Given the description of an element on the screen output the (x, y) to click on. 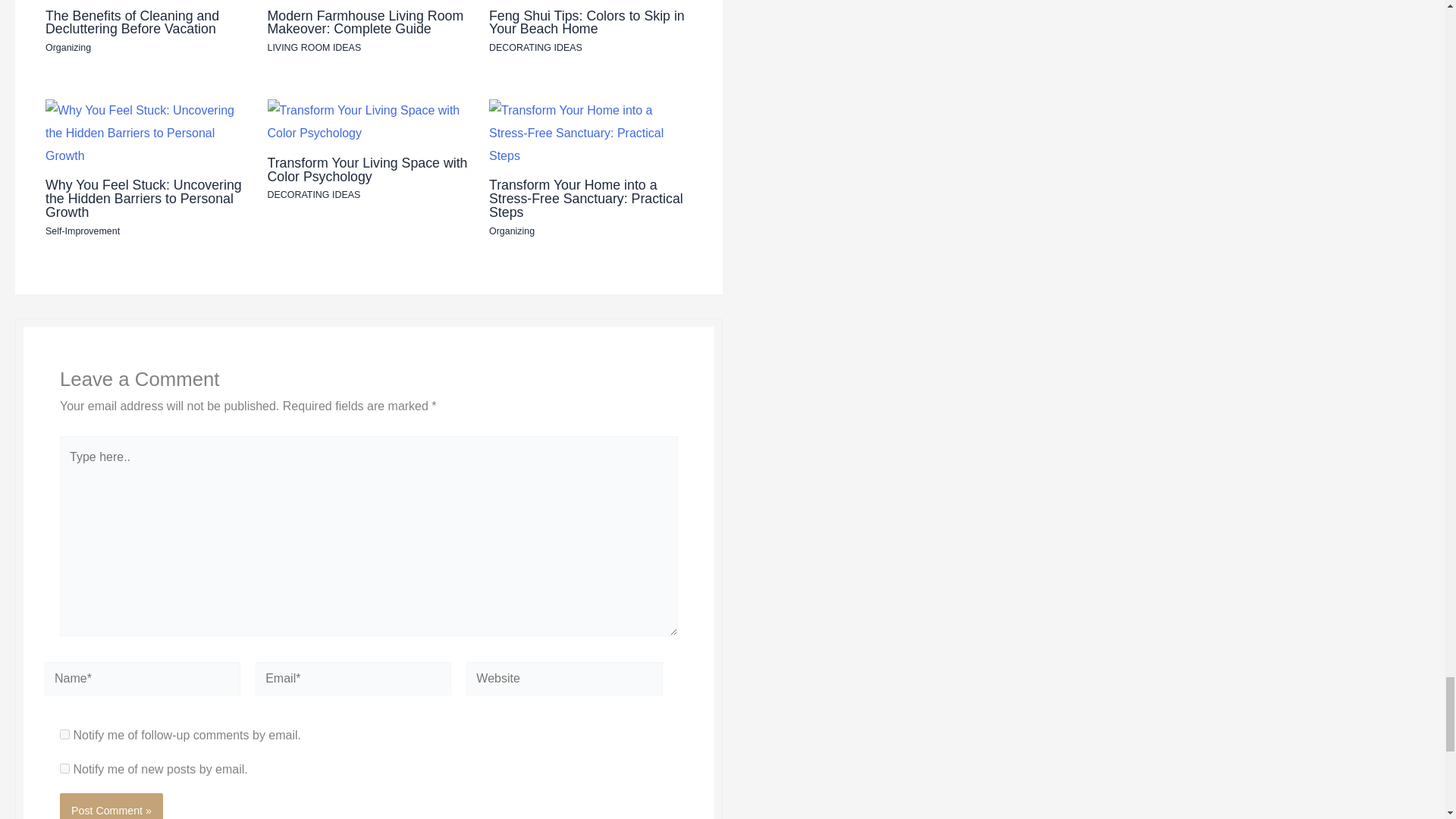
subscribe (64, 768)
subscribe (64, 734)
